Given the description of an element on the screen output the (x, y) to click on. 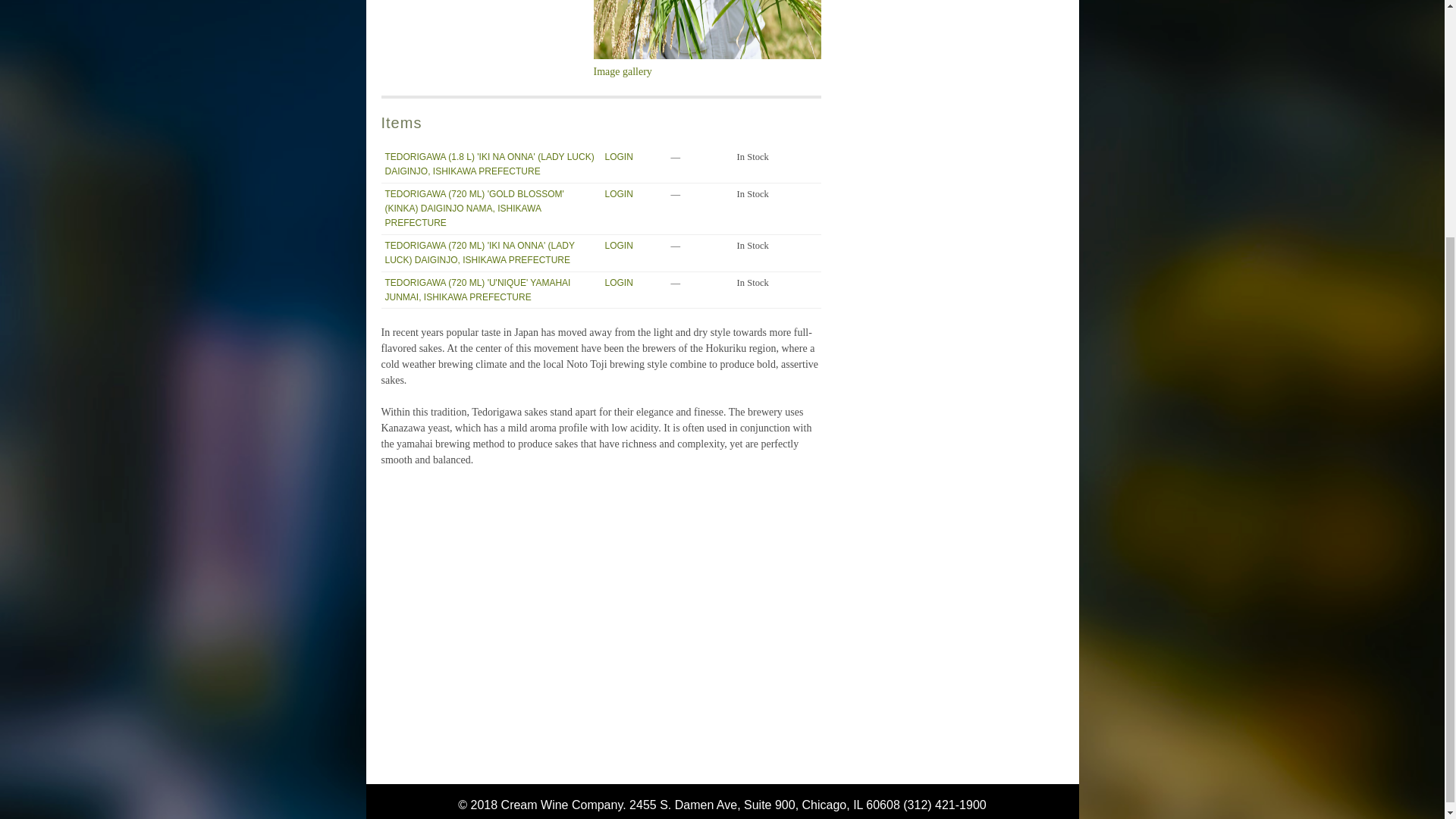
LOGIN (619, 282)
Login for pricing (619, 156)
LOGIN (619, 194)
Image gallery (706, 64)
Harvest at Tedorigawa (706, 64)
Login for pricing (619, 194)
Login for pricing (619, 282)
LOGIN (619, 156)
LOGIN (619, 245)
YouTube video player (592, 603)
Login for pricing (619, 245)
